Given the description of an element on the screen output the (x, y) to click on. 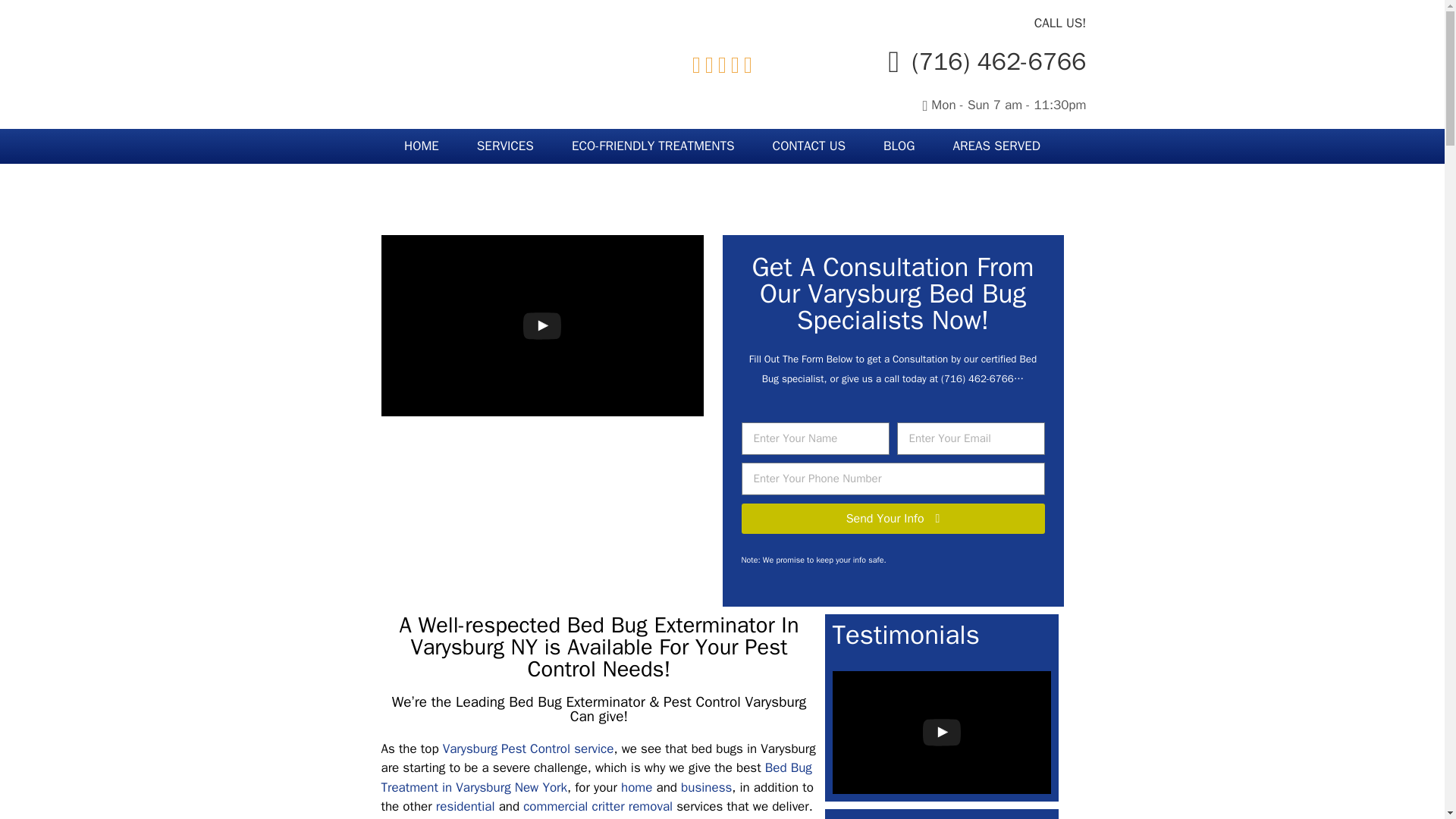
HOME (421, 145)
CONTACT US (809, 145)
ECO-FRIENDLY TREATMENTS (653, 145)
BLOG (898, 145)
SERVICES (505, 145)
AREAS SERVED (996, 145)
